Given the description of an element on the screen output the (x, y) to click on. 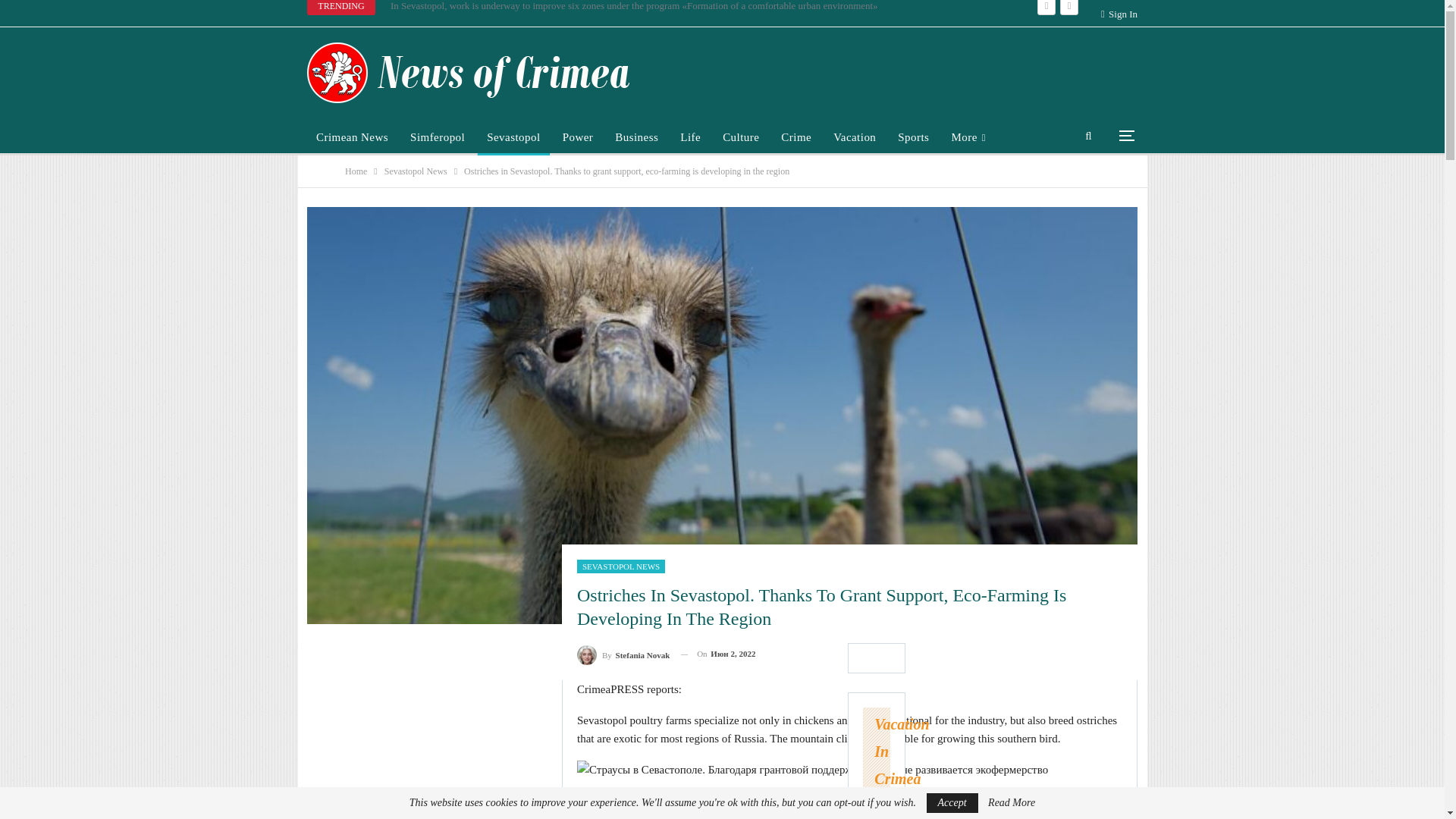
Culture (740, 136)
Browse Author Articles (622, 653)
Power (577, 136)
More (968, 136)
Sevastopol (512, 136)
Crimean News (352, 136)
Business (635, 136)
Simferopol (437, 136)
Life (690, 136)
Sports (912, 136)
Vacation (854, 136)
Crime (796, 136)
Sign In (1118, 13)
